Given the description of an element on the screen output the (x, y) to click on. 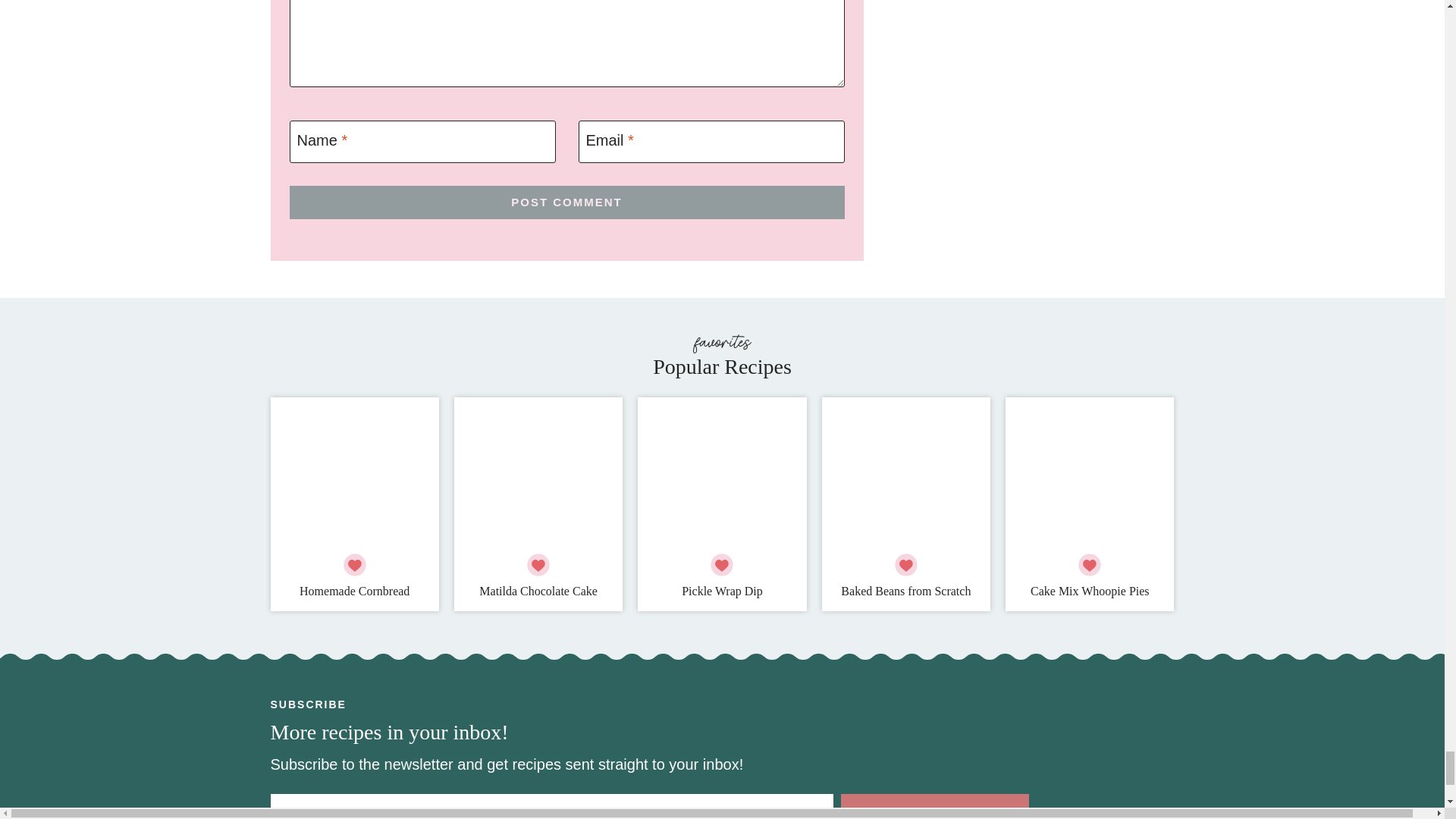
Post Comment (566, 202)
